Given the description of an element on the screen output the (x, y) to click on. 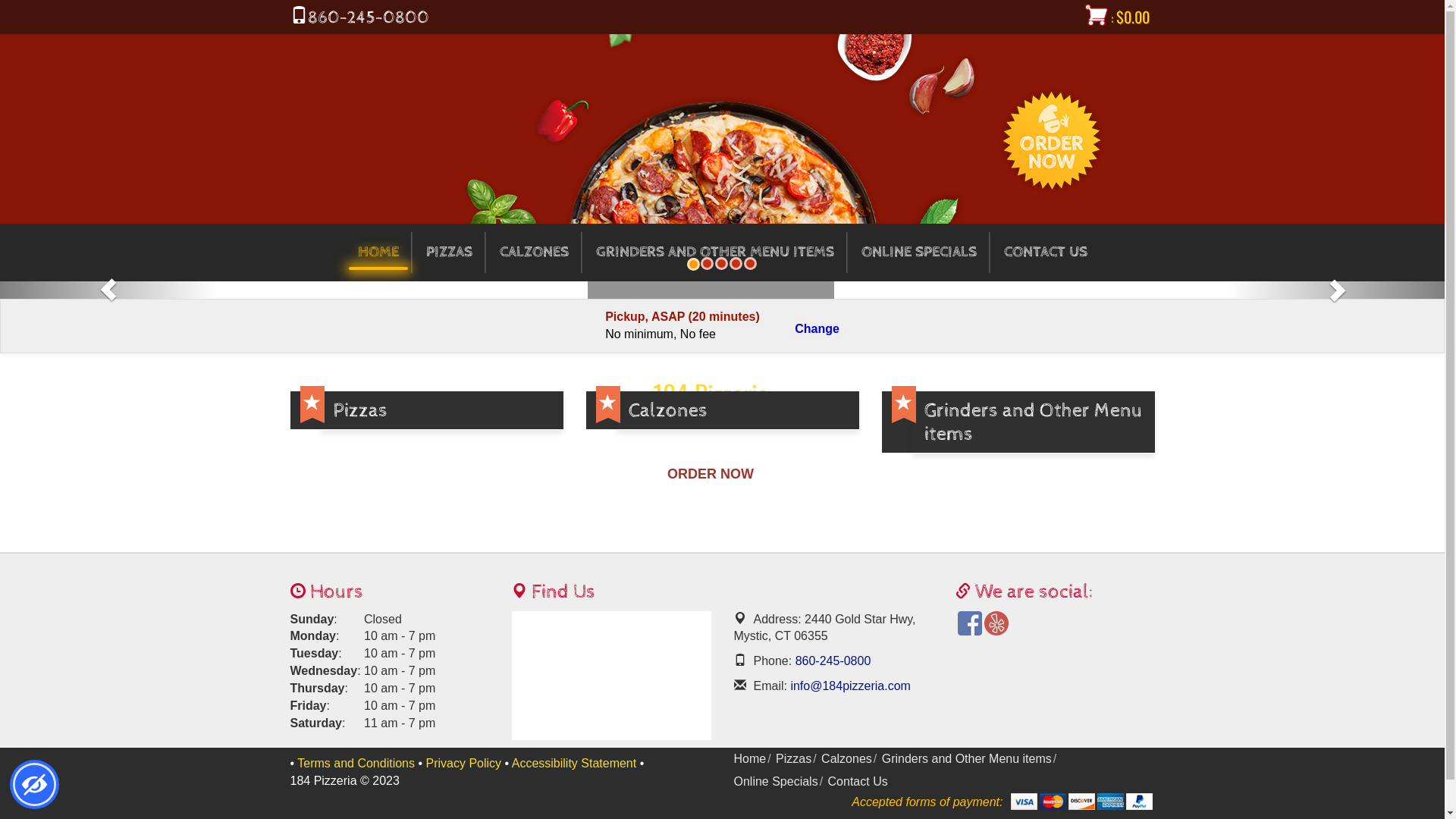
Prev Slide Element type: hover (108, 289)
GRINDERS AND OTHER MENU ITEMS Element type: text (714, 252)
Home Element type: text (750, 758)
ORDER NOW Element type: text (710, 474)
Phone
860-245-0800 Element type: text (358, 17)
Maps Element type: hover (611, 674)
Yelp Element type: hover (996, 623)
HOME Element type: text (378, 252)
Calzones Element type: text (846, 758)
Privacy Policy Element type: text (464, 762)
Next Slide Element type: hover (1335, 289)
info@184pizzeria.com Element type: text (848, 685)
American Express Element type: hover (1109, 801)
Change
Delivery or Pickup Element type: text (816, 329)
Contact Us Element type: text (858, 781)
Terms and Conditions Element type: text (355, 762)
CALZONES Element type: text (533, 252)
Grinders and Other Menu items Element type: text (1017, 422)
Pizzas Element type: text (425, 410)
ONLINE SPECIALS Element type: text (918, 252)
860-245-0800 Element type: text (830, 660)
Grinders and Other Menu items Element type: text (966, 758)
CONTACT US Element type: text (1045, 252)
Pizzas Element type: text (793, 758)
Facebook Element type: hover (969, 623)
Visa Element type: hover (1023, 801)
Logo 184 Pizzeria Element type: text (289, 41)
Order Now Element type: text (1051, 140)
Online Specials Element type: text (776, 781)
MasterCard Element type: hover (1051, 801)
Paypal Account Element type: hover (1138, 801)
Calzones Element type: text (721, 410)
: $0.00 Element type: text (1116, 18)
PIZZAS Element type: text (449, 252)
Logo 184 Pizzeria Element type: text (1054, 650)
Accessibility Statement Element type: text (574, 762)
Discover Element type: hover (1080, 801)
